Given the description of an element on the screen output the (x, y) to click on. 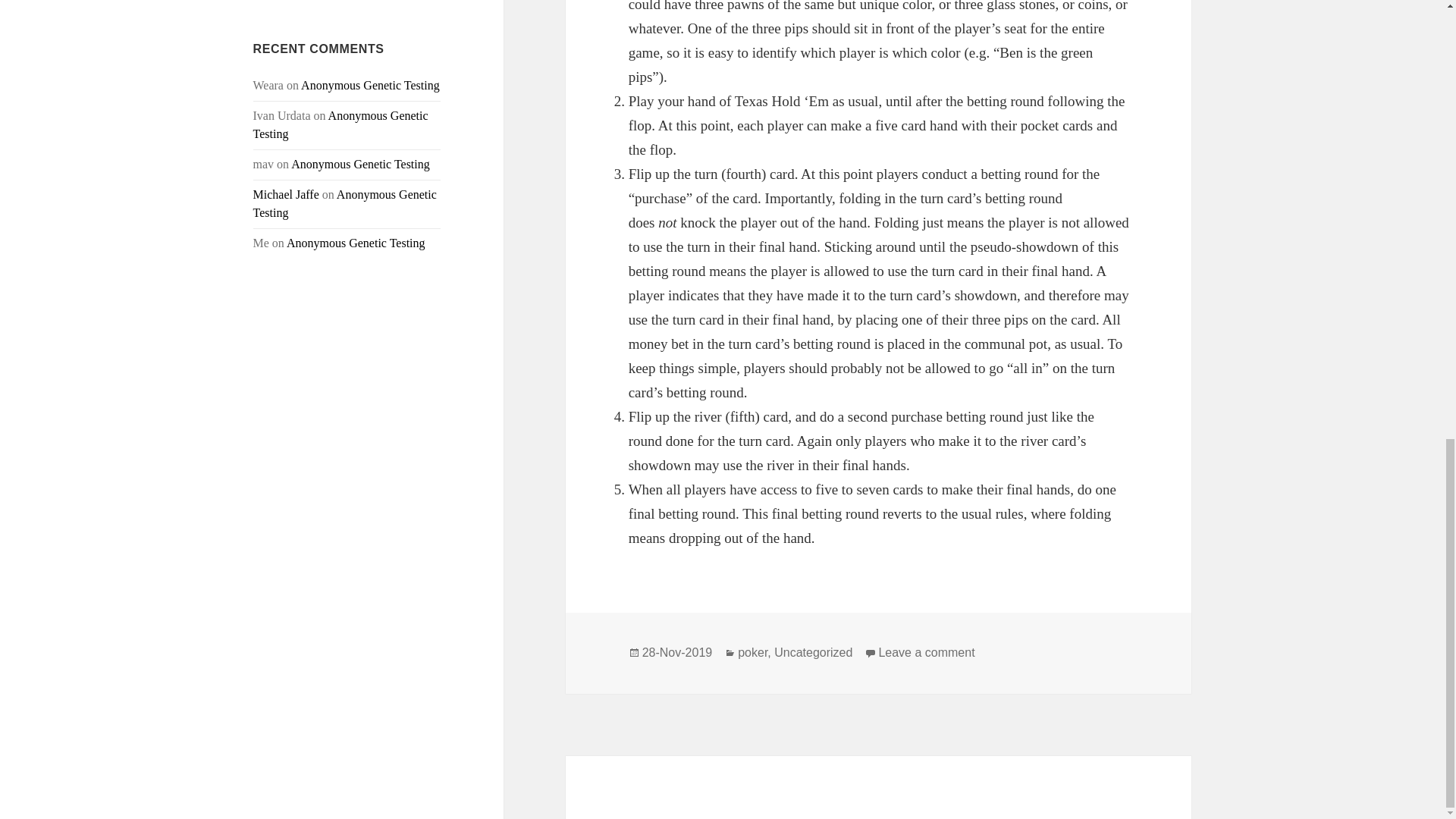
Uncategorized (812, 653)
28-Nov-2019 (677, 653)
Anonymous Genetic Testing (360, 164)
poker (752, 653)
Anonymous Genetic Testing (344, 203)
Leave a comment (925, 653)
Anonymous Genetic Testing (355, 242)
Anonymous Genetic Testing (340, 124)
Michael Jaffe (285, 194)
Anonymous Genetic Testing (370, 84)
